Given the description of an element on the screen output the (x, y) to click on. 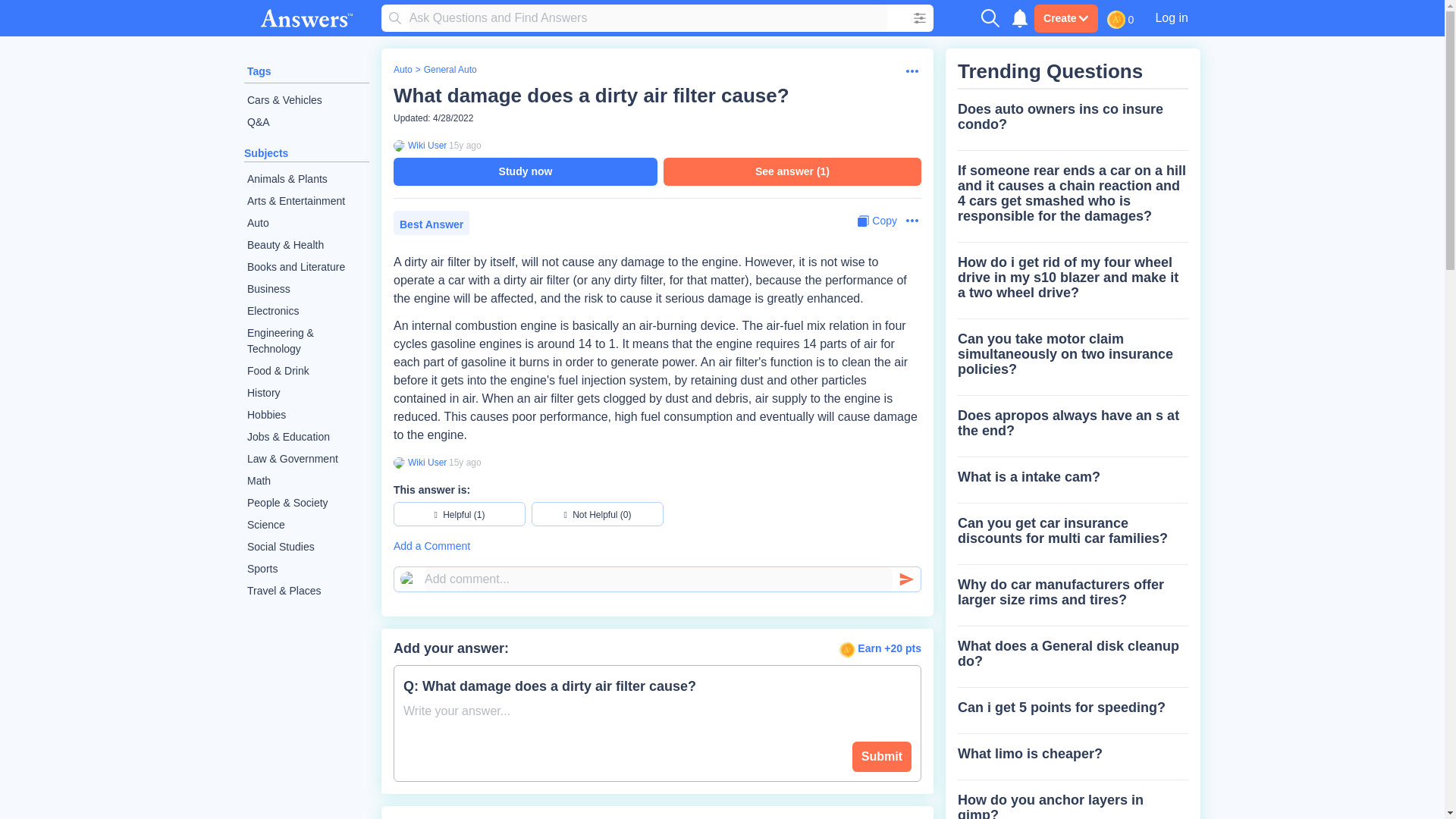
Electronics (306, 311)
Study now (525, 171)
Business (306, 289)
Tags (258, 70)
Auto (306, 223)
Create (1065, 18)
Subjects (266, 152)
2009-07-07 17:58:56 (464, 145)
Log in (1170, 17)
Books and Literature (306, 267)
2009-07-07 17:58:56 (464, 462)
Science (306, 525)
History (306, 393)
Hobbies (306, 414)
Social Studies (306, 546)
